Given the description of an element on the screen output the (x, y) to click on. 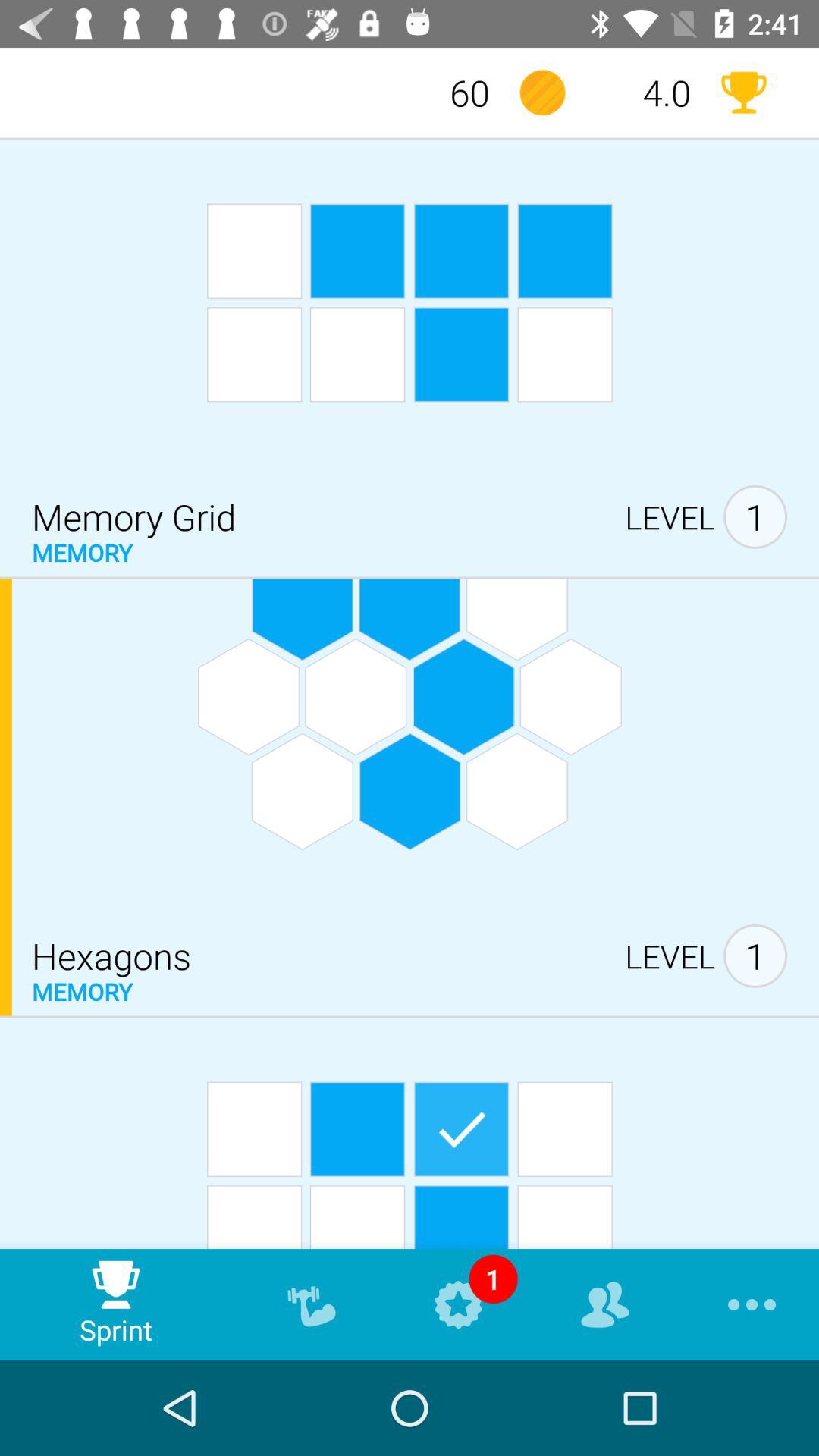
trophy (743, 92)
